Given the description of an element on the screen output the (x, y) to click on. 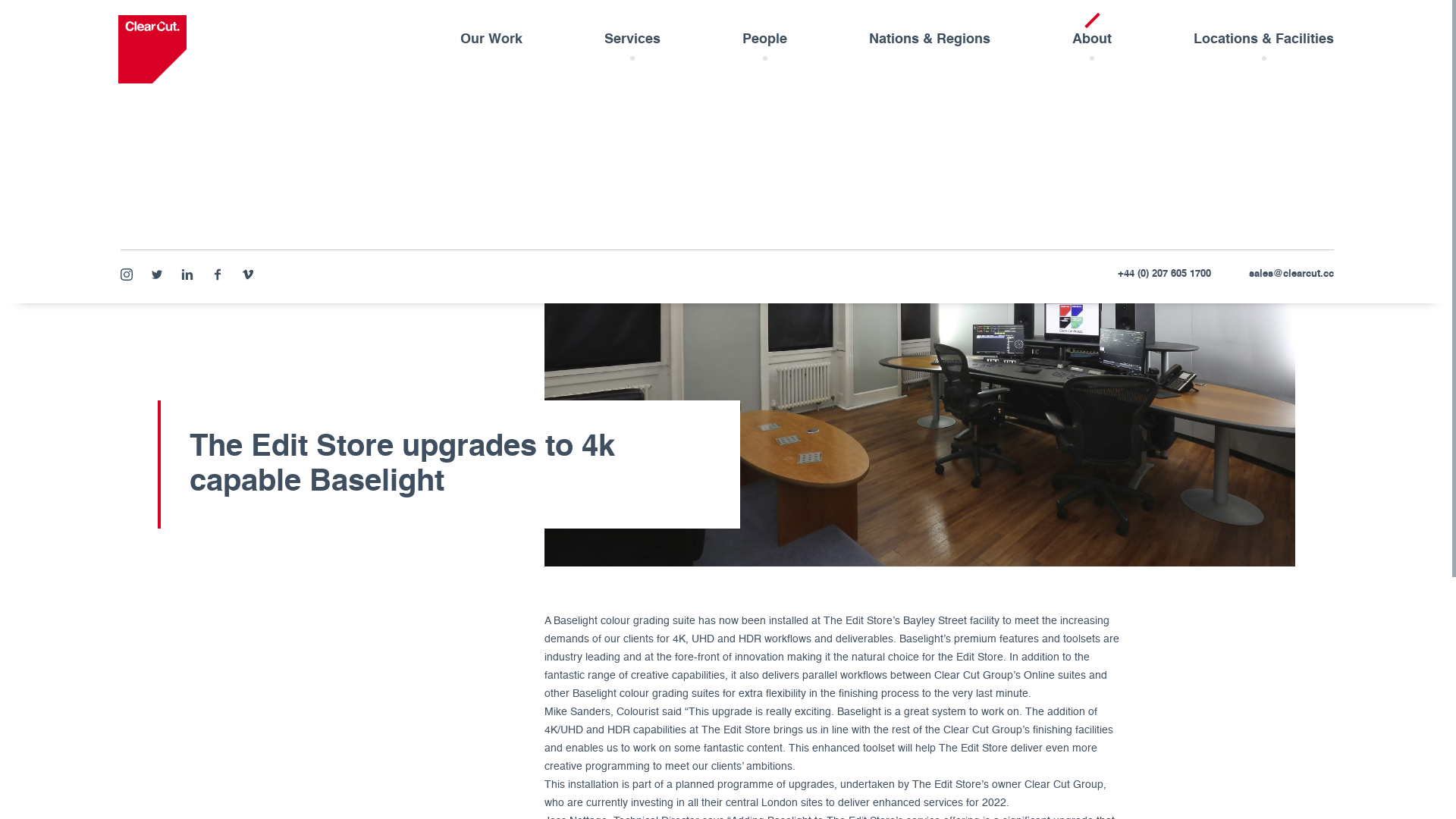
People Element type: text (764, 42)
Locations & Facilities Element type: text (1263, 42)
Clear Cut Element type: text (152, 49)
Nations & Regions Element type: text (929, 42)
+44 (0) 207 605 1700 Element type: text (1164, 276)
Our Work Element type: text (491, 42)
Services Element type: text (632, 42)
sales@clearcut.cc Element type: text (1290, 276)
About Element type: text (1091, 42)
